Given the description of an element on the screen output the (x, y) to click on. 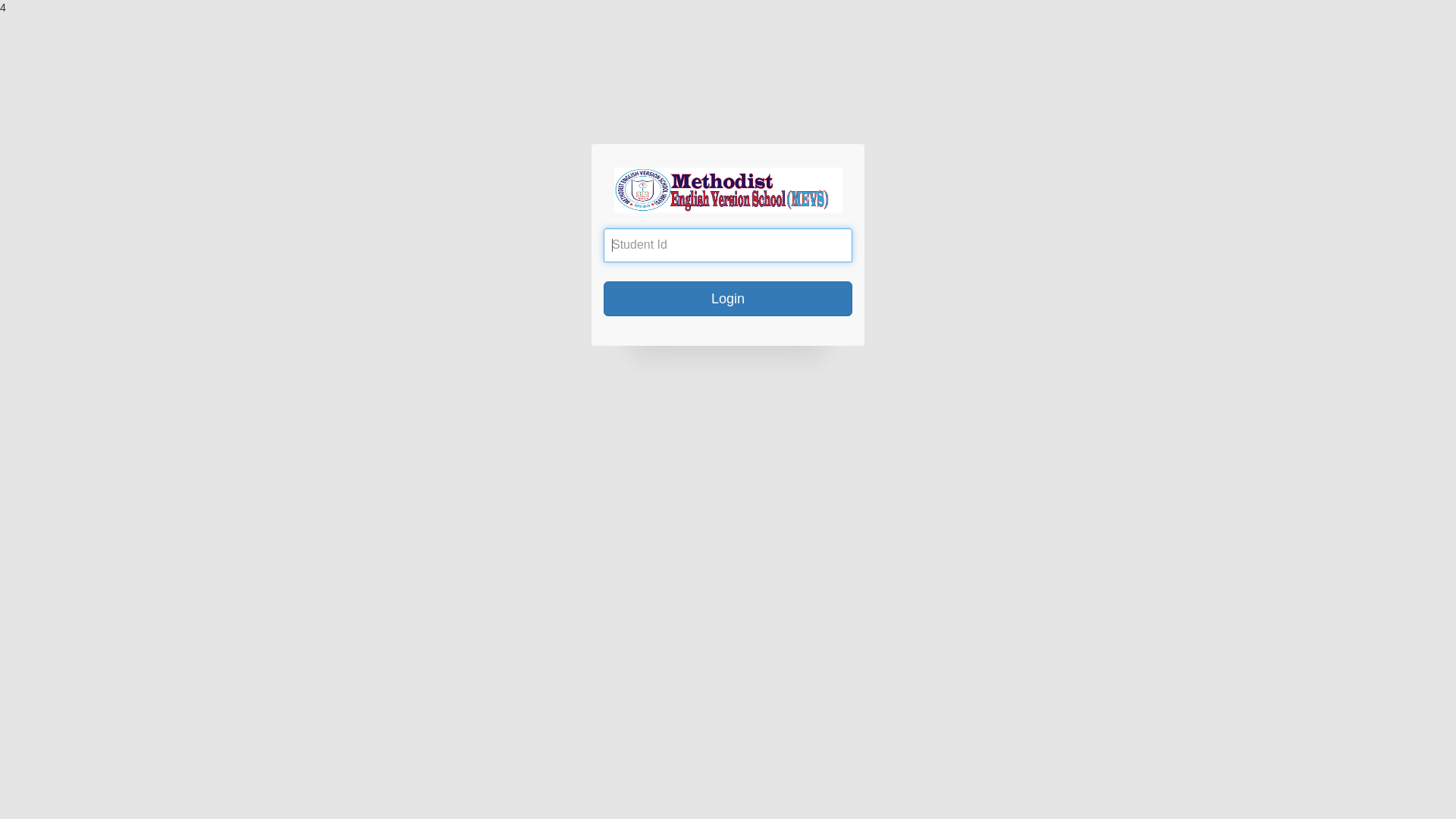
Login Element type: text (727, 298)
